Given the description of an element on the screen output the (x, y) to click on. 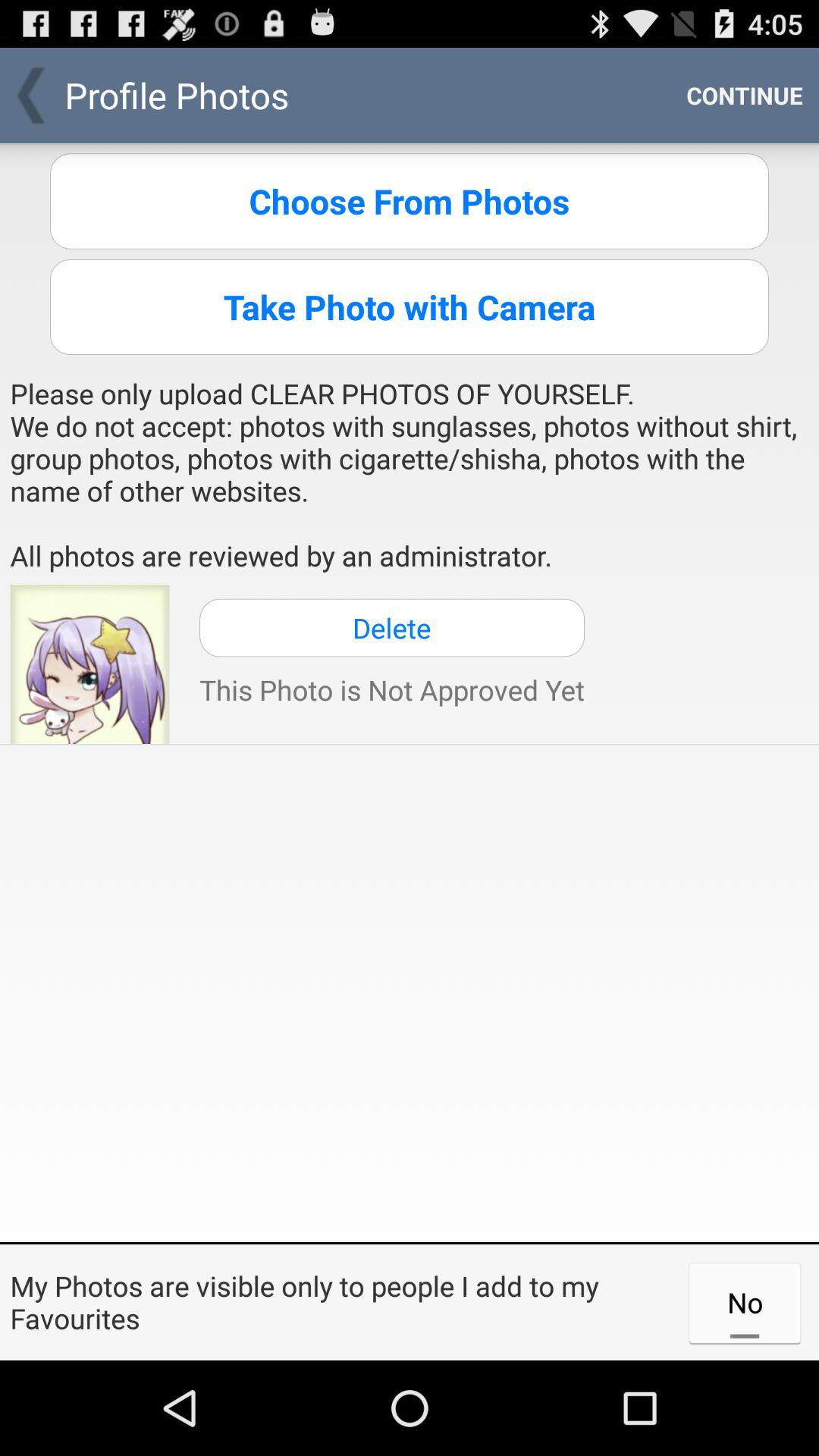
click on take photo with camera (409, 307)
